Given the description of an element on the screen output the (x, y) to click on. 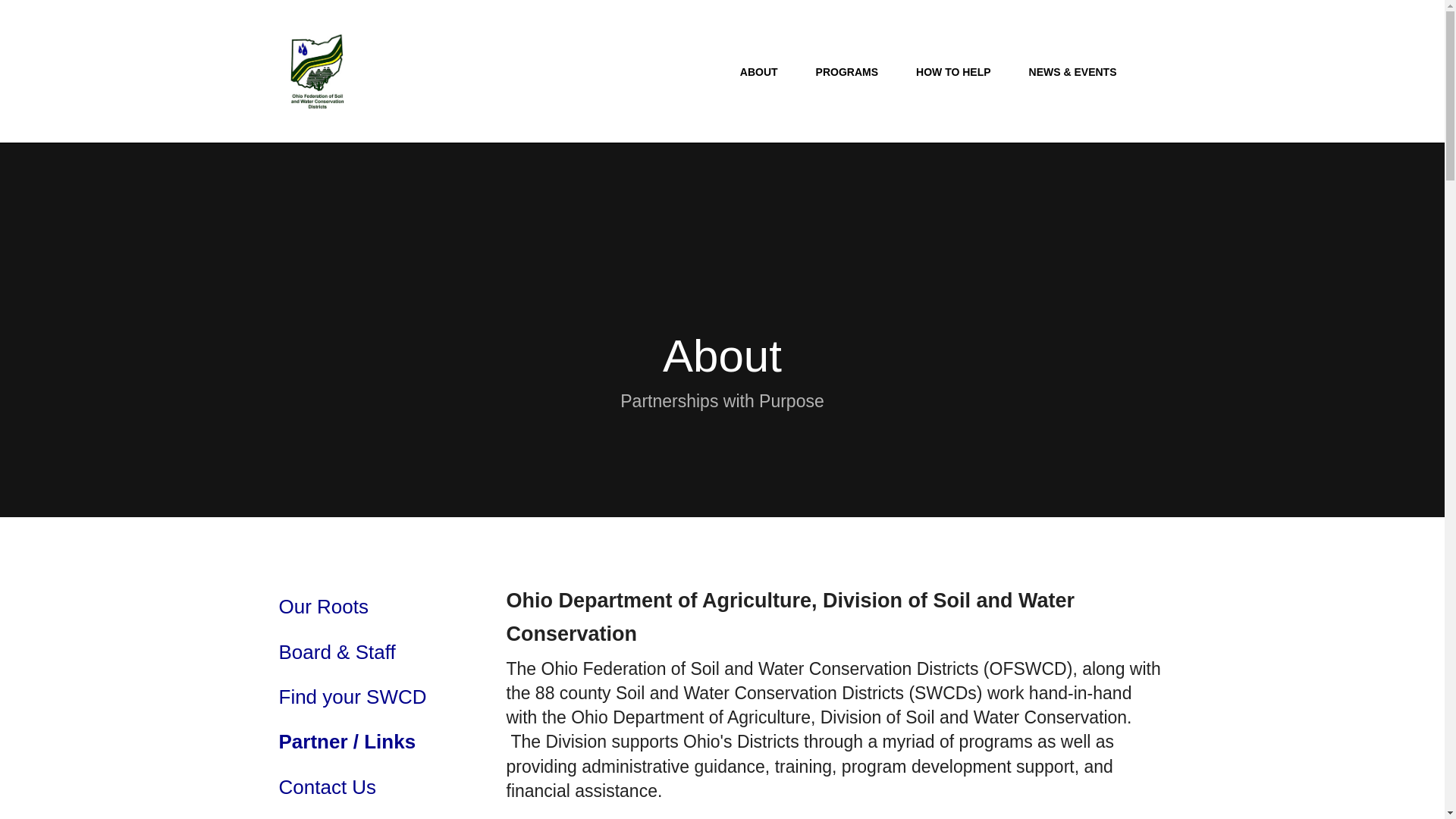
ABOUT (758, 73)
logo (317, 70)
HOW TO HELP (953, 73)
PROGRAMS (846, 73)
